Given the description of an element on the screen output the (x, y) to click on. 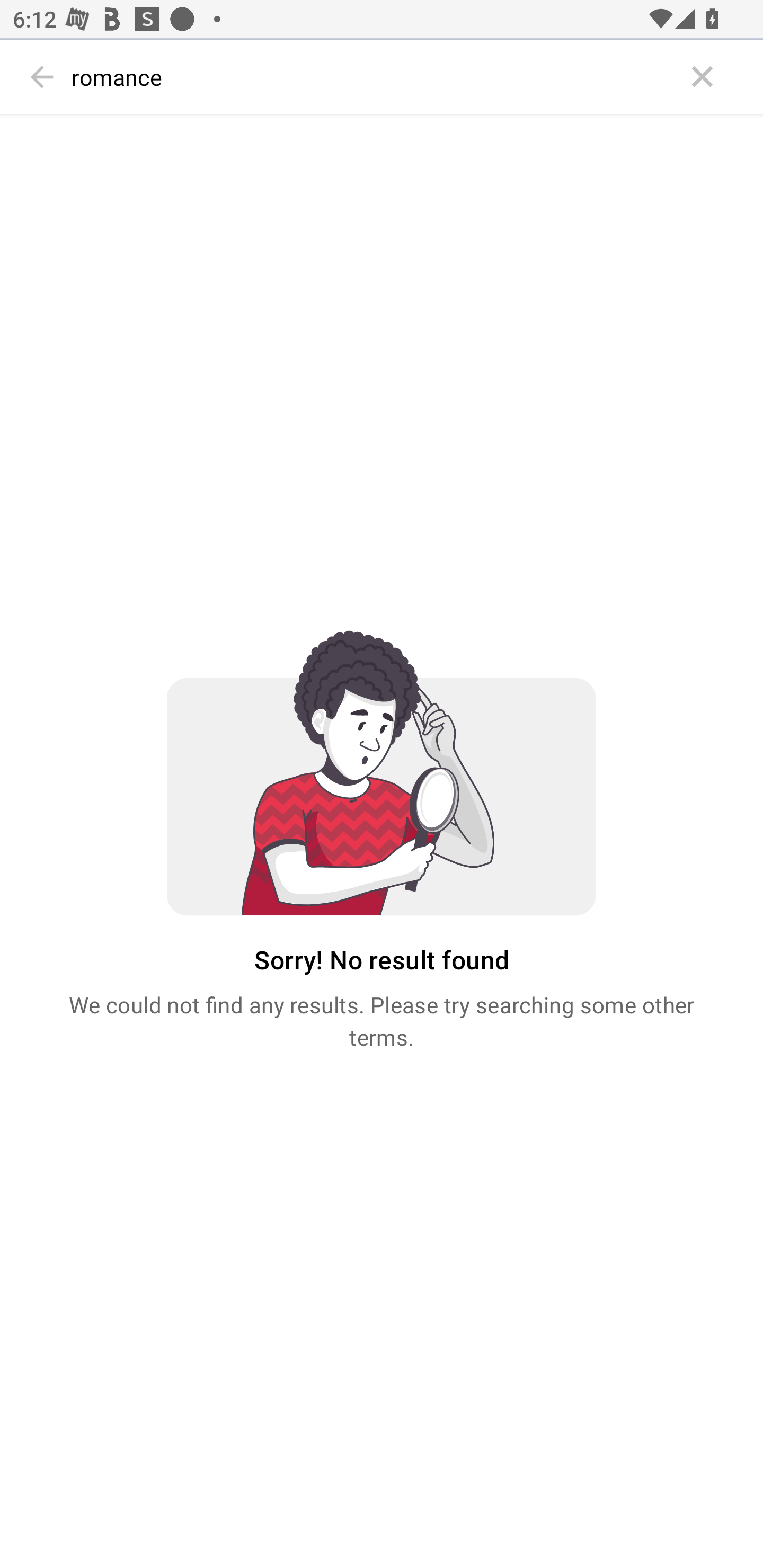
Back (42, 76)
romance (373, 76)
Close (702, 76)
